Given the description of an element on the screen output the (x, y) to click on. 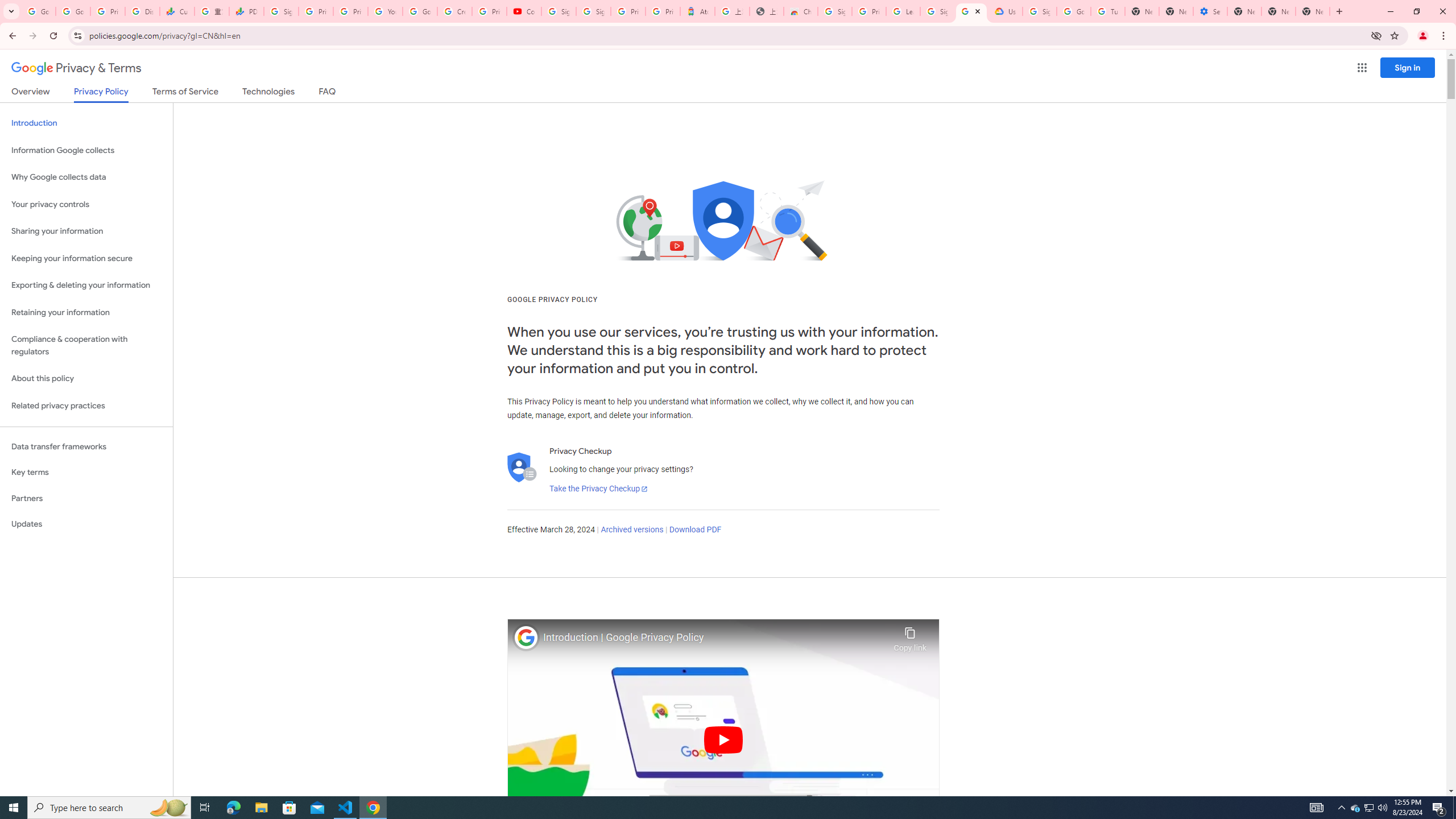
Sign in - Google Accounts (937, 11)
Copy link (909, 636)
New Tab (1243, 11)
Privacy Checkup (349, 11)
Sharing your information (86, 230)
Data transfer frameworks (86, 446)
About this policy (86, 379)
